Given the description of an element on the screen output the (x, y) to click on. 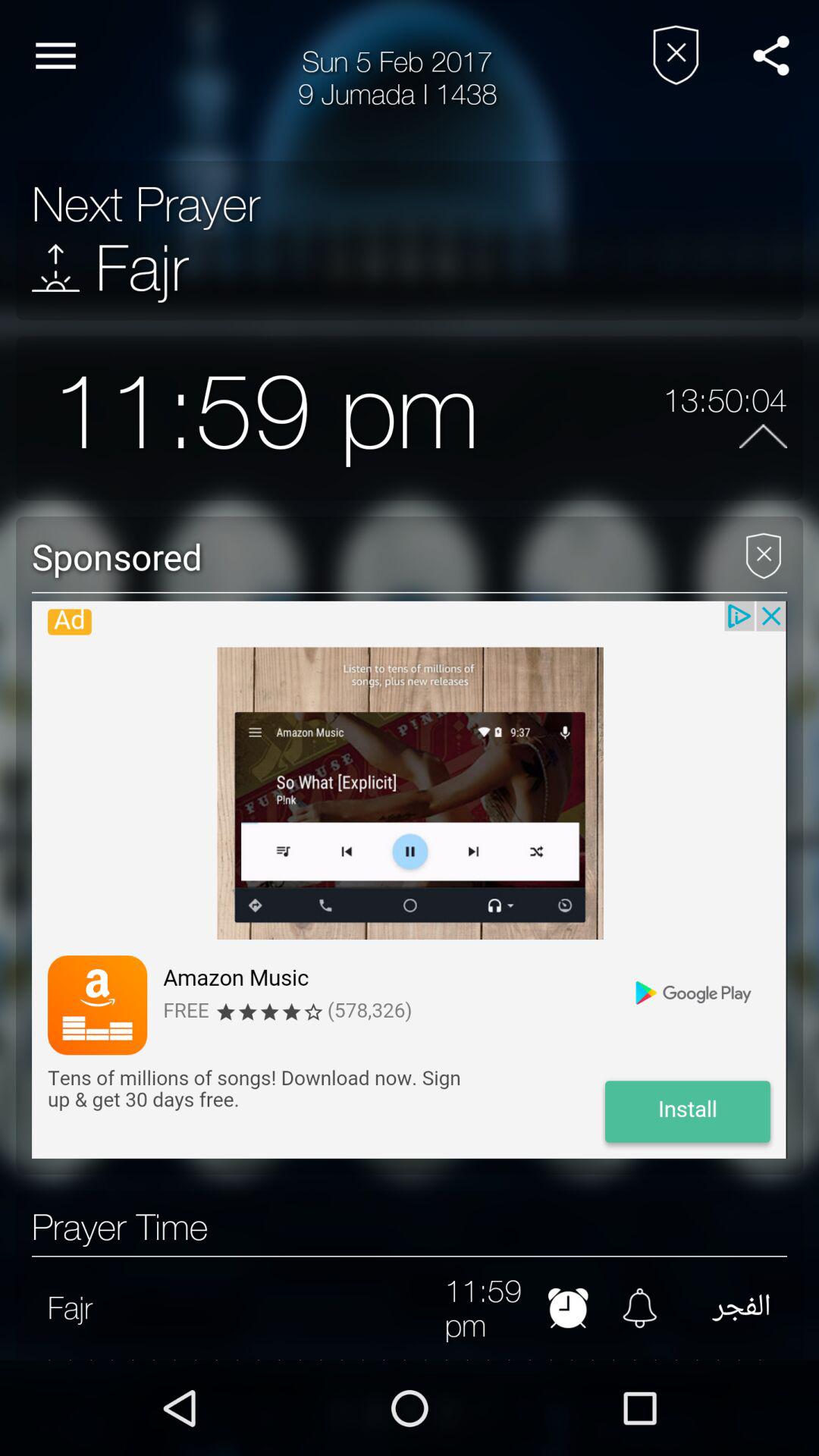
select prayer time item (119, 1226)
